Given the description of an element on the screen output the (x, y) to click on. 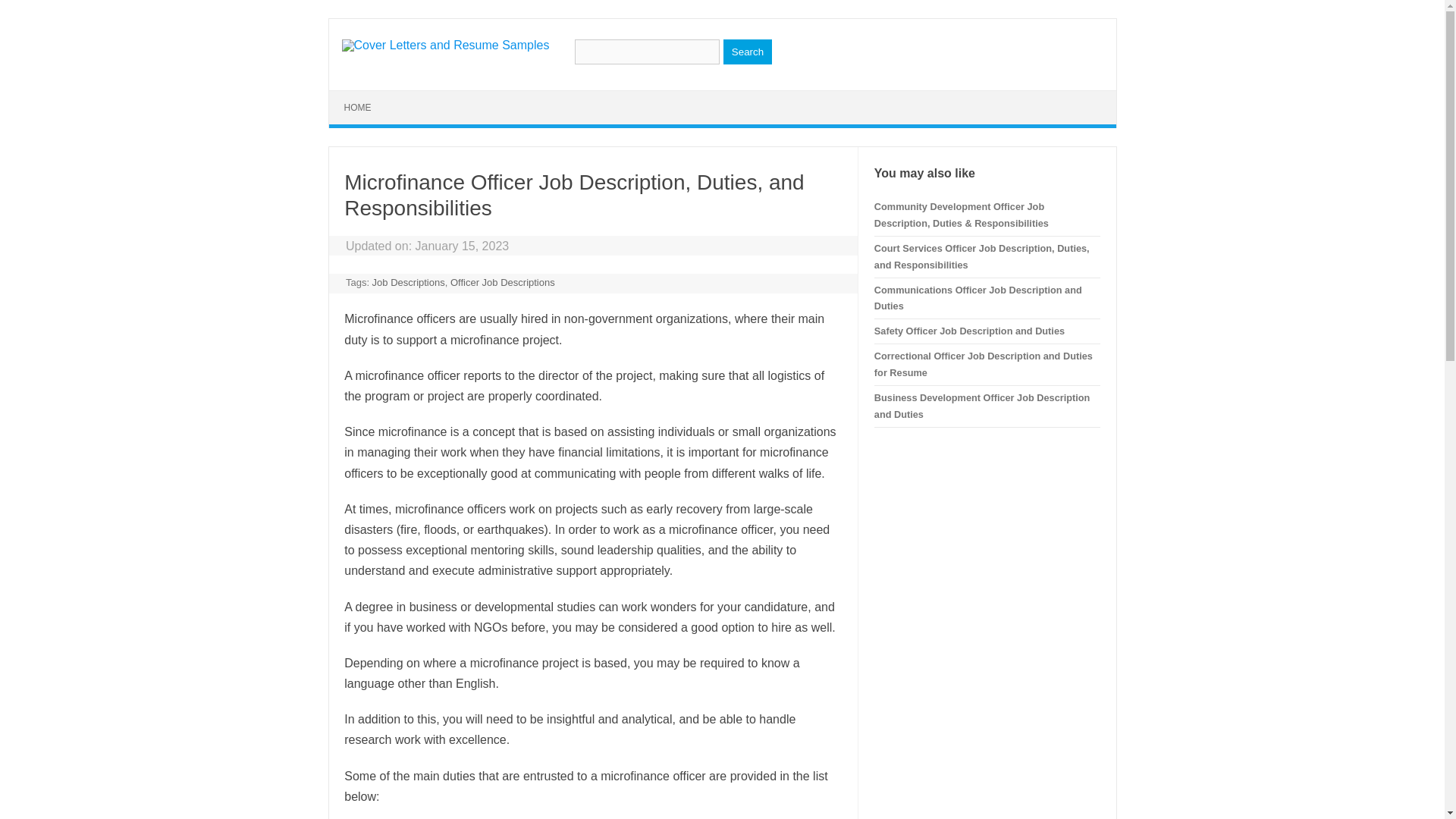
Search (747, 51)
Correctional Officer Job Description and Duties for Resume (984, 364)
Communications Officer Job Description and Duties (978, 297)
Job Descriptions (408, 282)
Search (747, 51)
Officer Job Descriptions (501, 282)
Cover Letters and Resume Samples (444, 44)
